Given the description of an element on the screen output the (x, y) to click on. 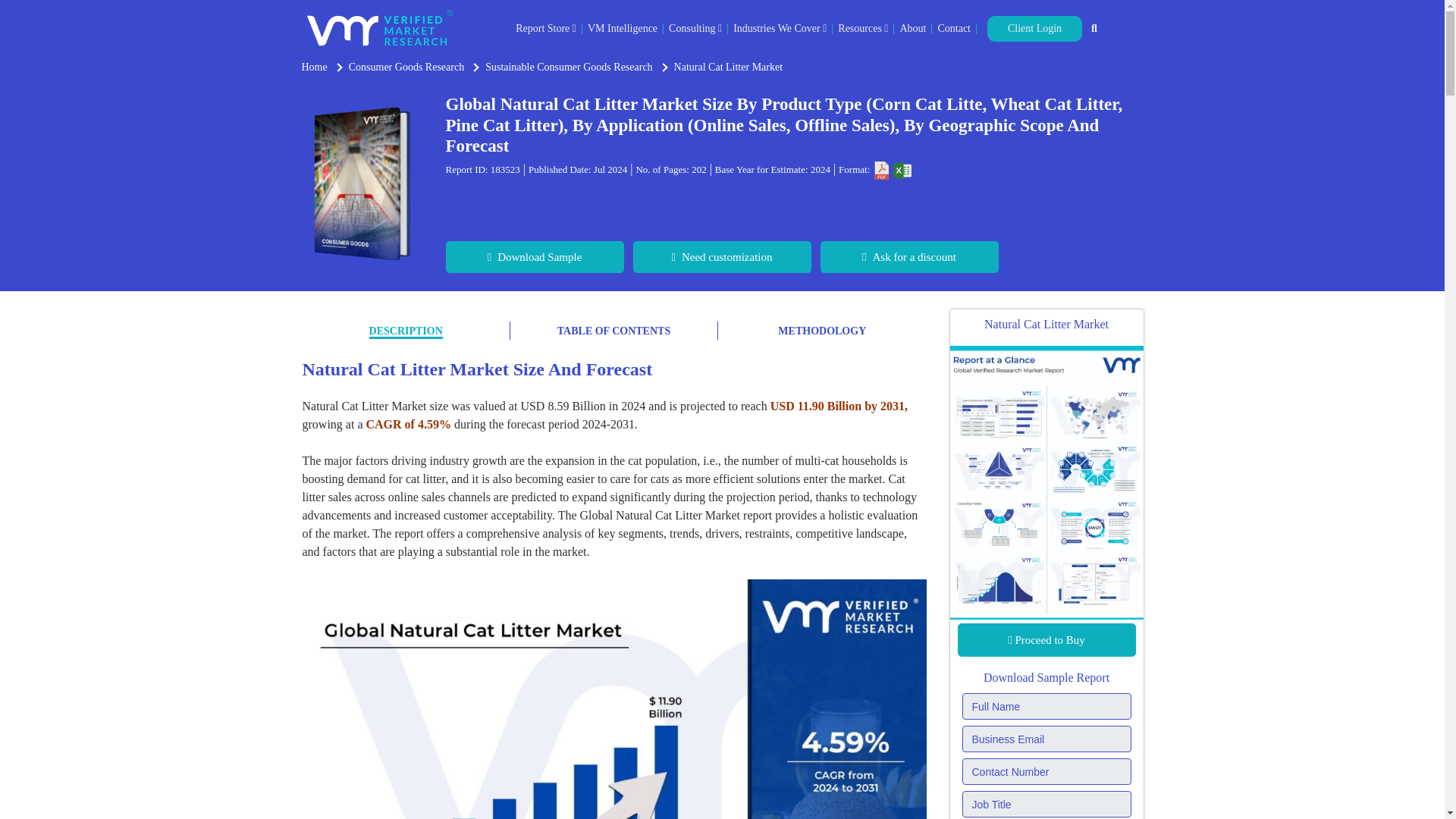
Report Store (545, 28)
Resources (862, 28)
Report Store  (545, 28)
About (912, 28)
Industries We Cover  (780, 28)
VM Intelligence (622, 28)
VM Intelligence (622, 28)
Consulting (694, 28)
Industries We Cover (780, 28)
